Given the description of an element on the screen output the (x, y) to click on. 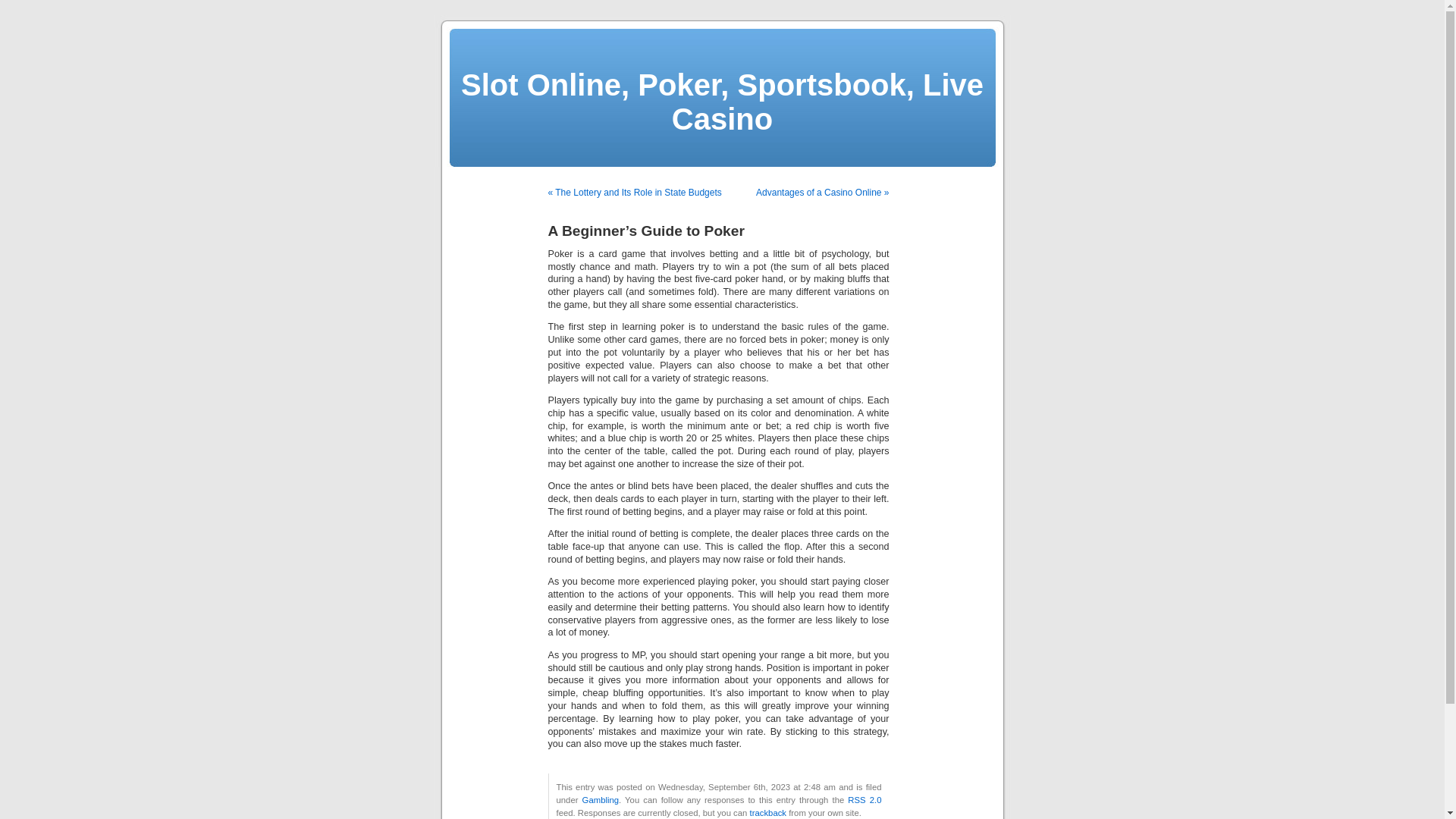
Slot Online, Poker, Sportsbook, Live Casino (722, 101)
RSS 2.0 (863, 799)
trackback (767, 812)
Gambling (600, 799)
